Given the description of an element on the screen output the (x, y) to click on. 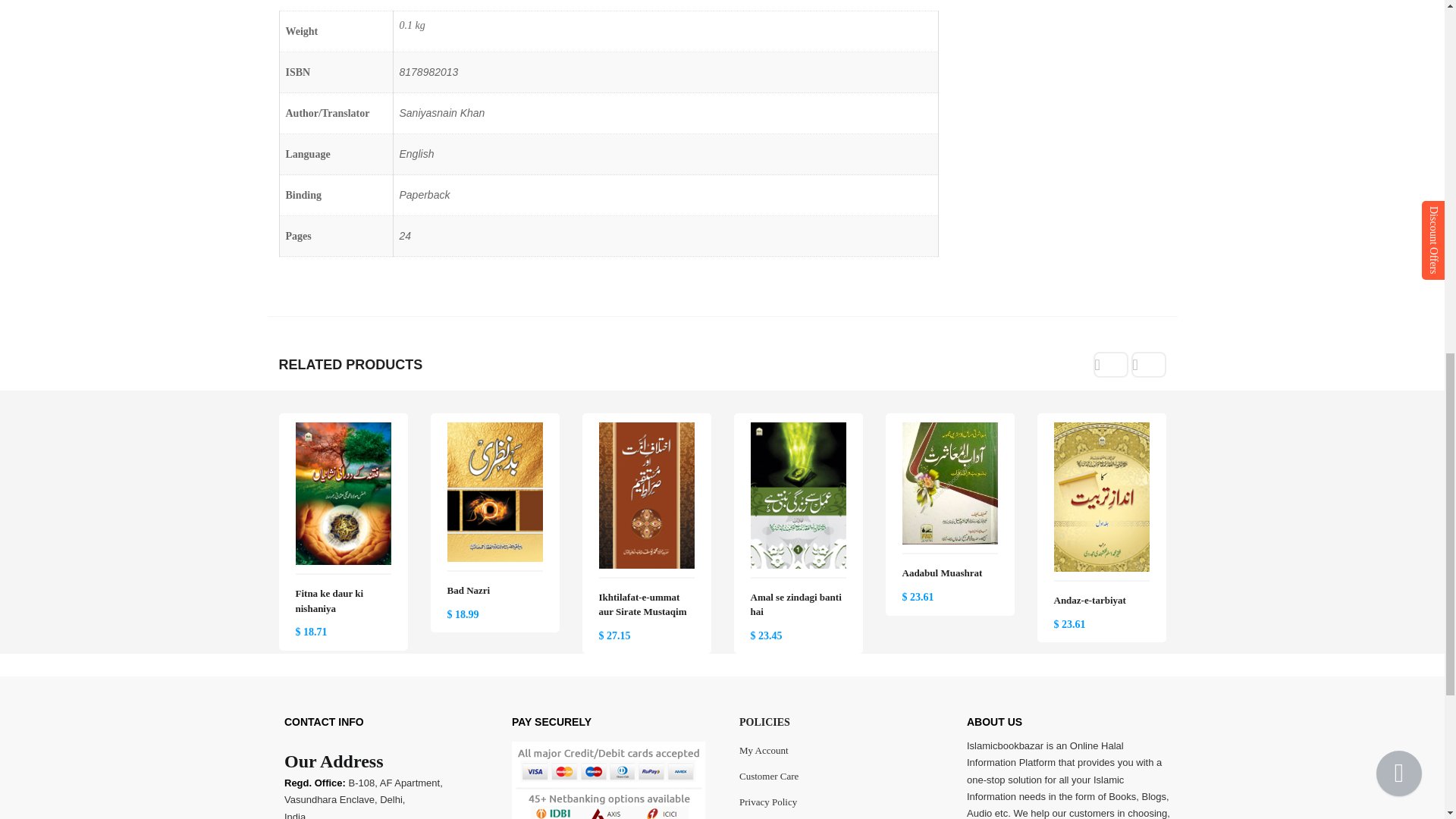
Amal se zindagi banti hai (798, 430)
Fitna ke daur ki nishaniya (343, 430)
Andaz-e-tarbiyat (1102, 430)
Aadabul Muashrat (949, 430)
Bad Nazri (494, 430)
Ikhtilafat-e-ummat aur Sirate Mustaqim (646, 430)
